Given the description of an element on the screen output the (x, y) to click on. 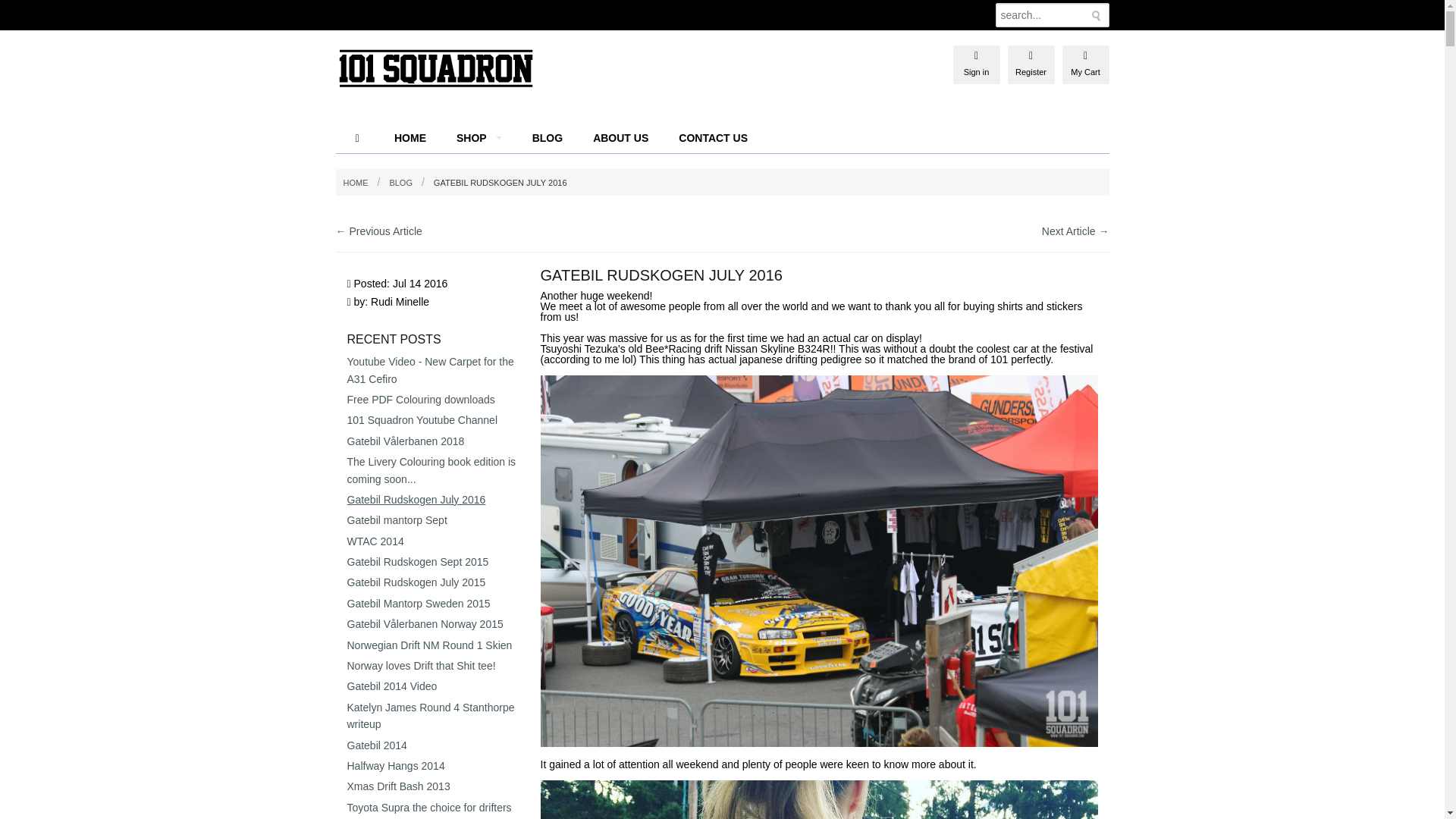
SHOP (478, 138)
Register (1030, 56)
Halfway Hangs 2014 (396, 766)
Norway loves Drift that Shit tee! (421, 665)
WTAC 2014 (375, 541)
Gatebil mantorp Sept (396, 520)
CONTACT US (712, 138)
The Livery Colouring book edition is coming soon... (431, 469)
ABOUT US (620, 138)
Gatebil 2014 (377, 745)
Gatebil Rudskogen Sept 2015 (418, 562)
Gatebil Rudskogen July 2015 (416, 582)
GATEBIL RUDSKOGEN JULY 2016 (496, 182)
Gatebil Rudskogen July 2016 (416, 499)
My Cart (1084, 56)
